Given the description of an element on the screen output the (x, y) to click on. 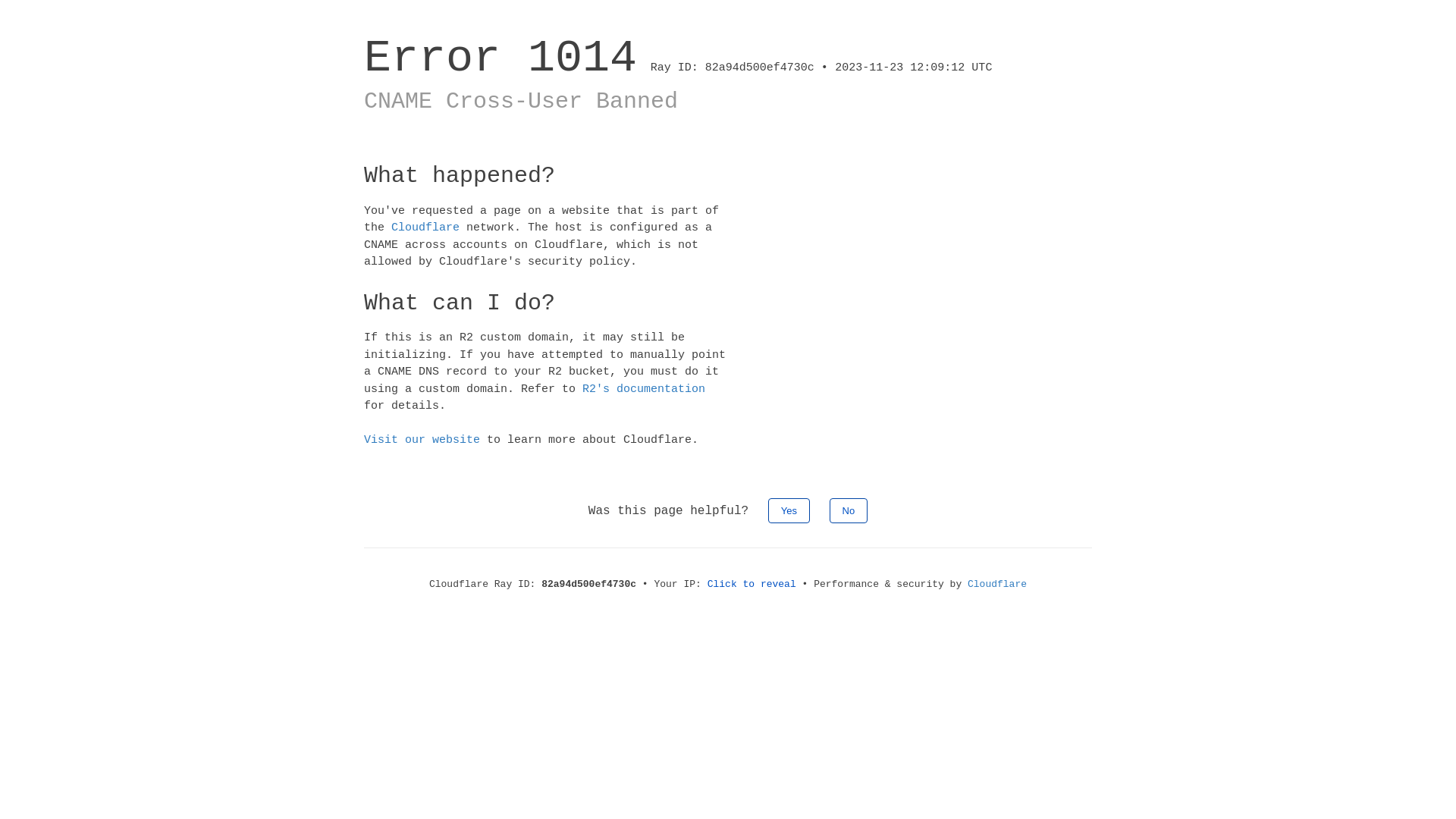
No Element type: text (848, 509)
Cloudflare Element type: text (996, 583)
Visit our website Element type: text (422, 439)
Click to reveal Element type: text (751, 583)
R2's documentation Element type: text (643, 388)
Cloudflare Element type: text (425, 227)
Yes Element type: text (788, 509)
